Given the description of an element on the screen output the (x, y) to click on. 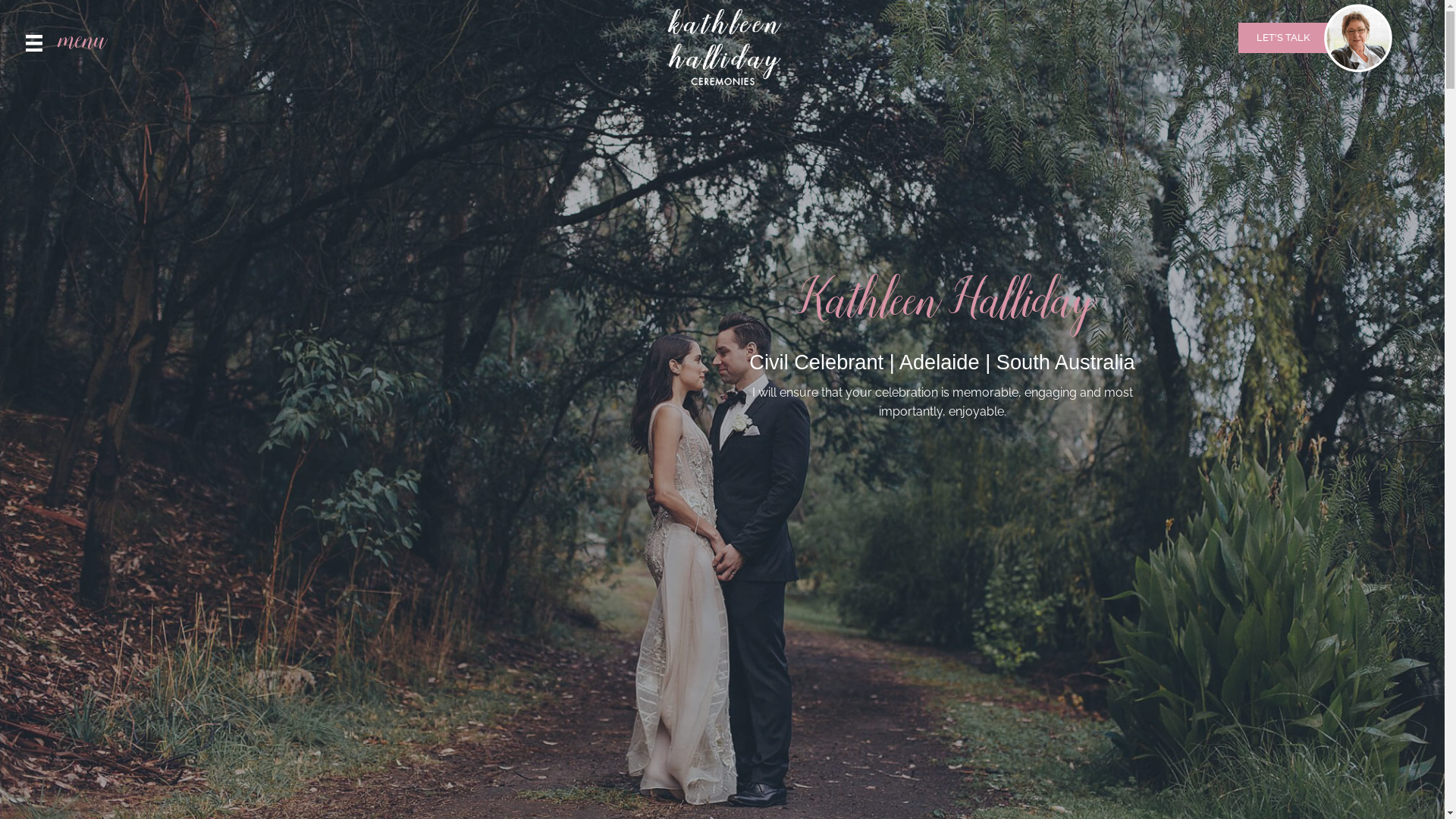
LOGO Element type: hover (722, 49)
LET'S TALK Element type: text (1282, 37)
